Given the description of an element on the screen output the (x, y) to click on. 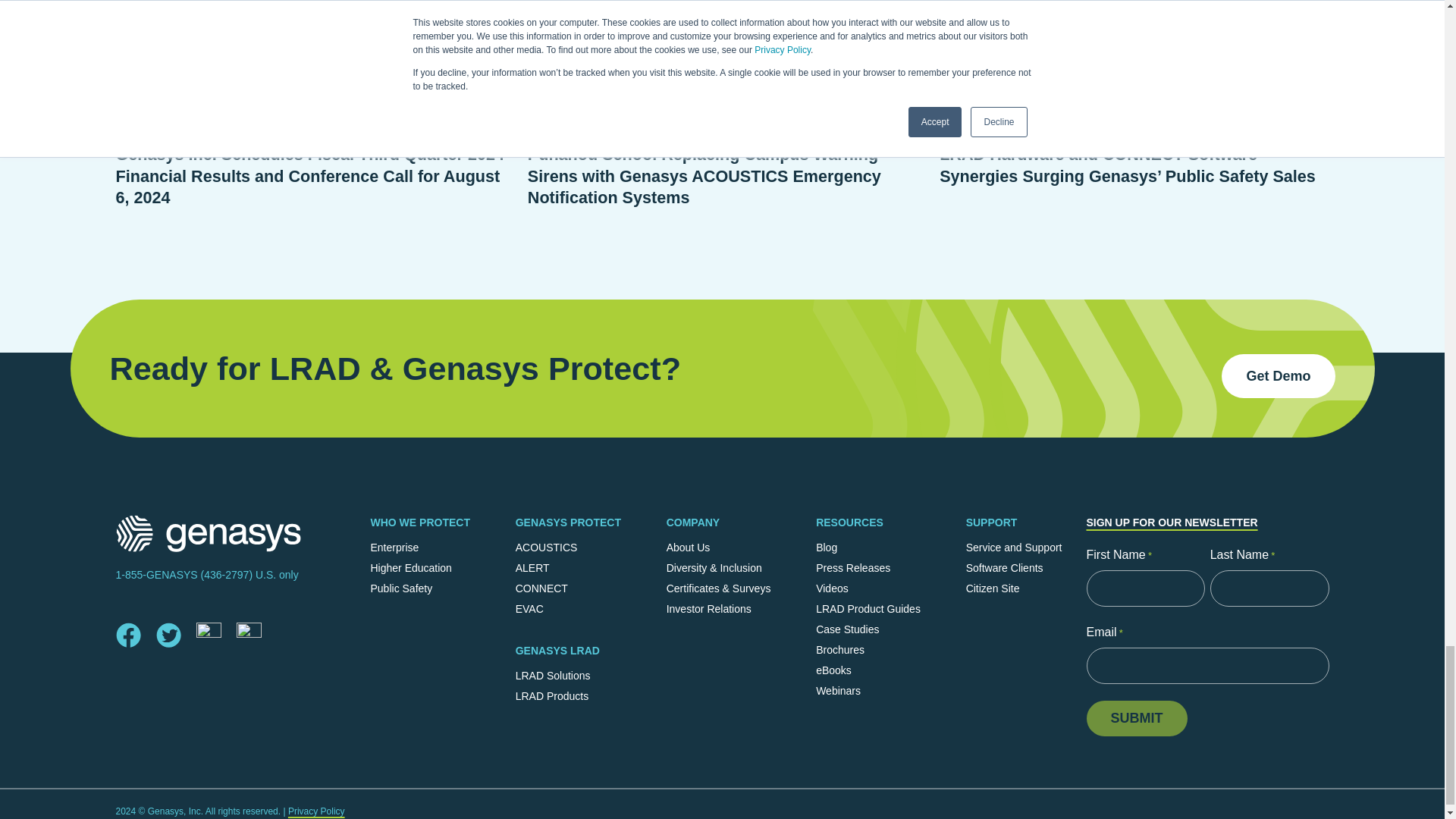
Submit (1136, 718)
